Given the description of an element on the screen output the (x, y) to click on. 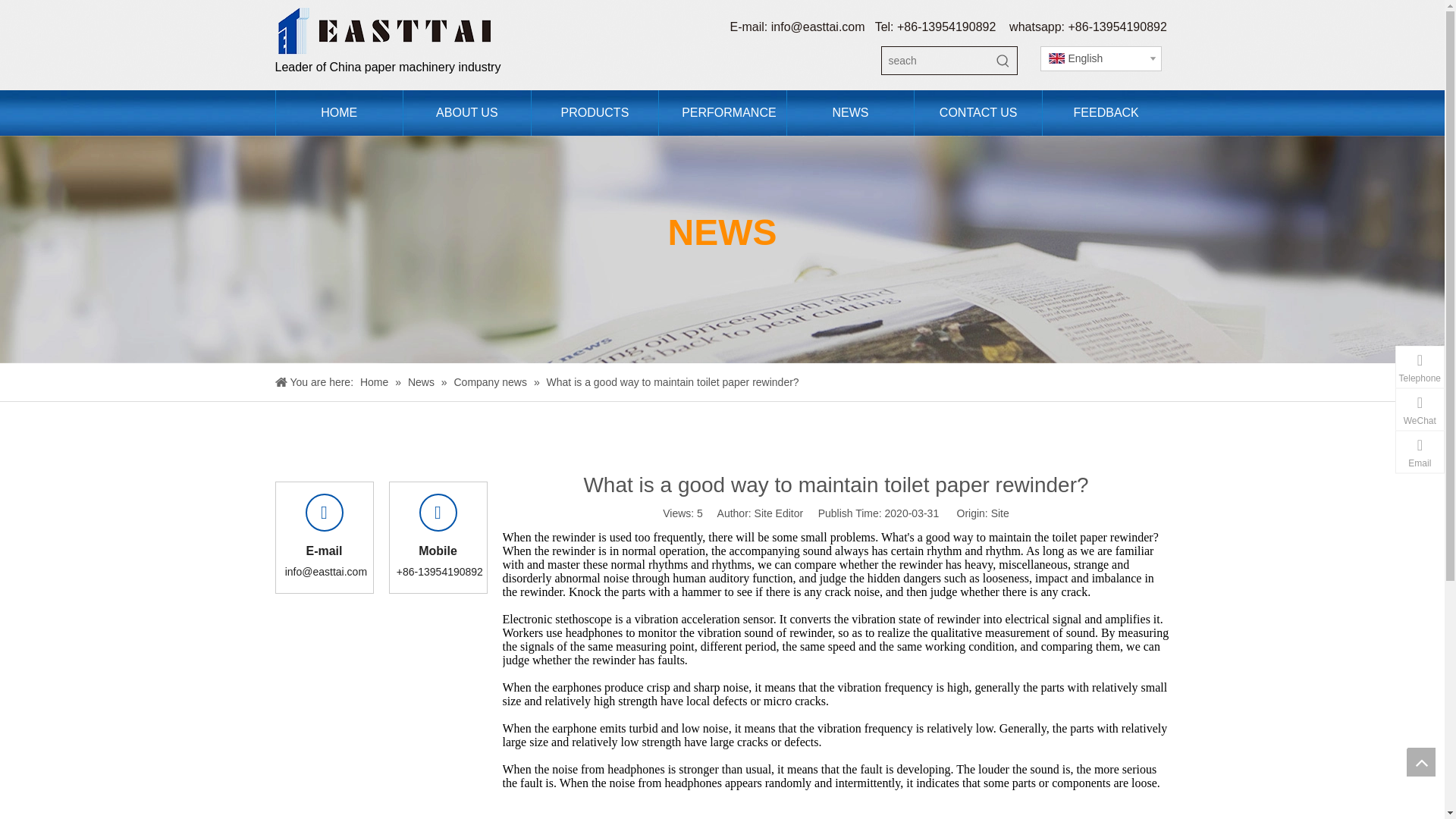
Company news (490, 381)
ABOUT US (467, 112)
HOME (339, 112)
CONTACT US (978, 112)
NEWS (850, 112)
Home (375, 381)
Site (1000, 512)
PERFORMANCE (722, 112)
PRODUCTS (595, 112)
News (422, 381)
